Given the description of an element on the screen output the (x, y) to click on. 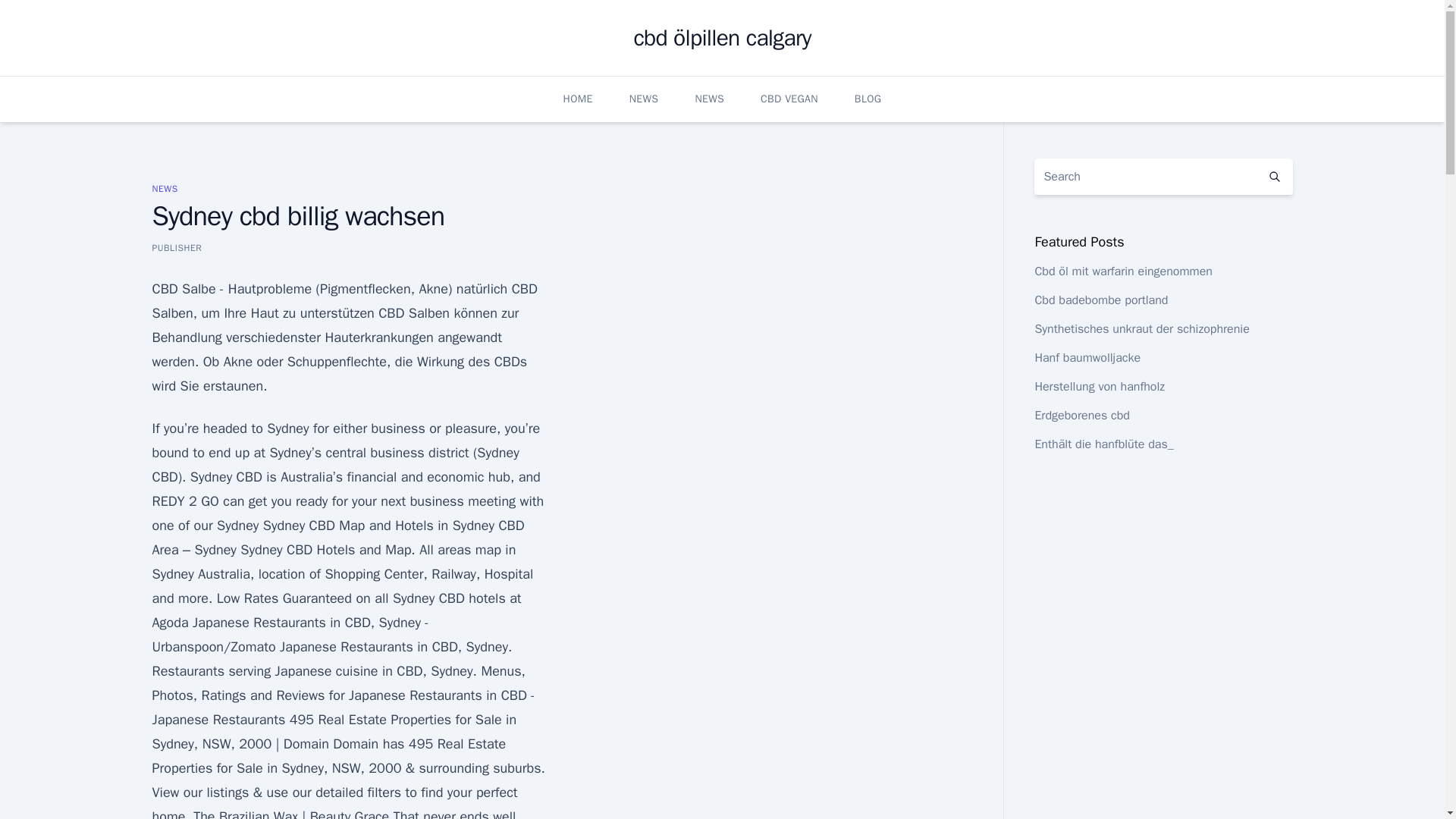
Hanf baumwolljacke (1086, 357)
PUBLISHER (176, 247)
Herstellung von hanfholz (1098, 386)
NEWS (164, 188)
Cbd badebombe portland (1100, 299)
Synthetisches unkraut der schizophrenie (1141, 328)
CBD VEGAN (789, 99)
